Given the description of an element on the screen output the (x, y) to click on. 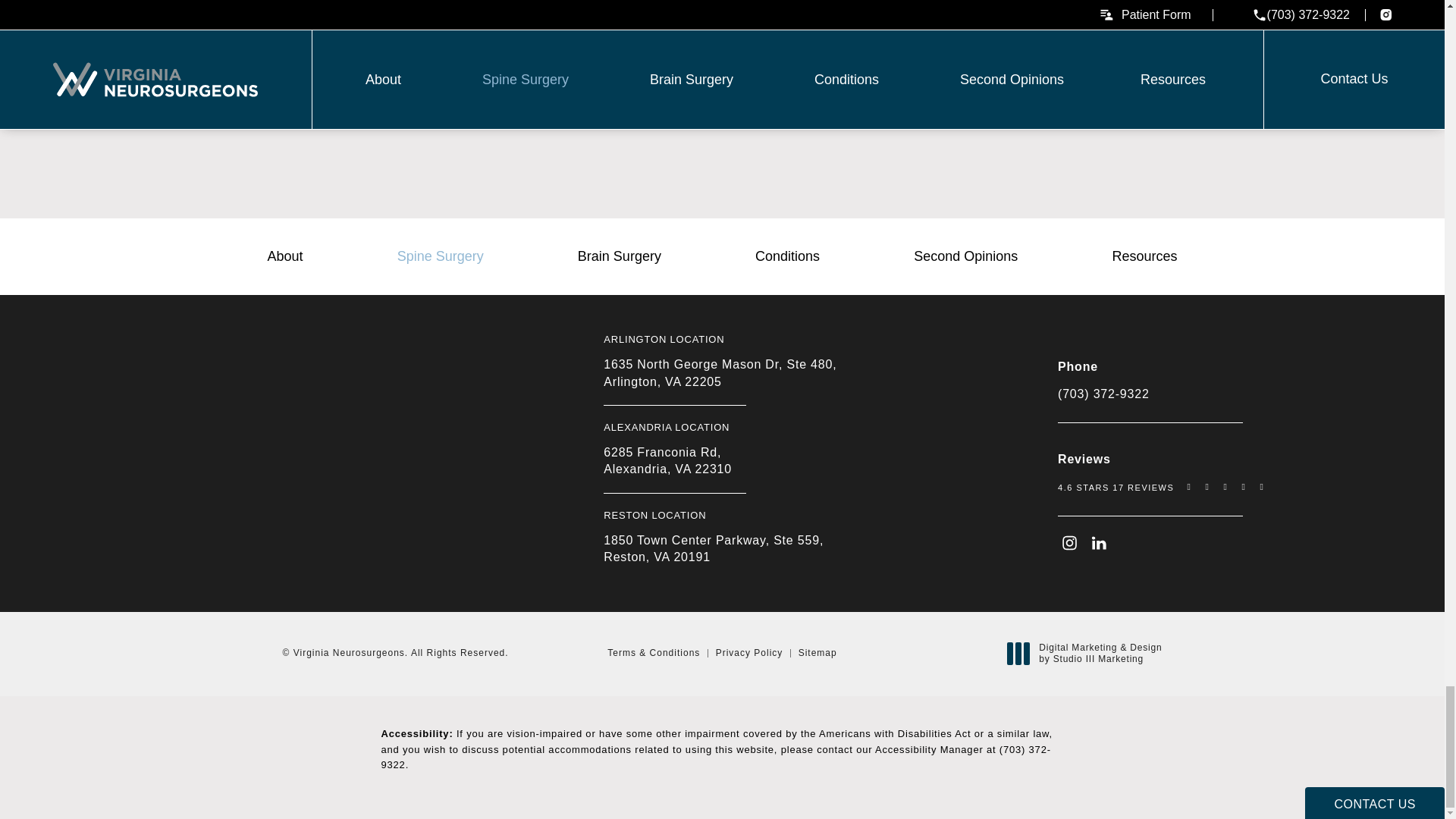
Virginia Neurosurgeons on Instagram (1065, 539)
Virginia Neurosurgeons on Linkedin (1095, 539)
